Given the description of an element on the screen output the (x, y) to click on. 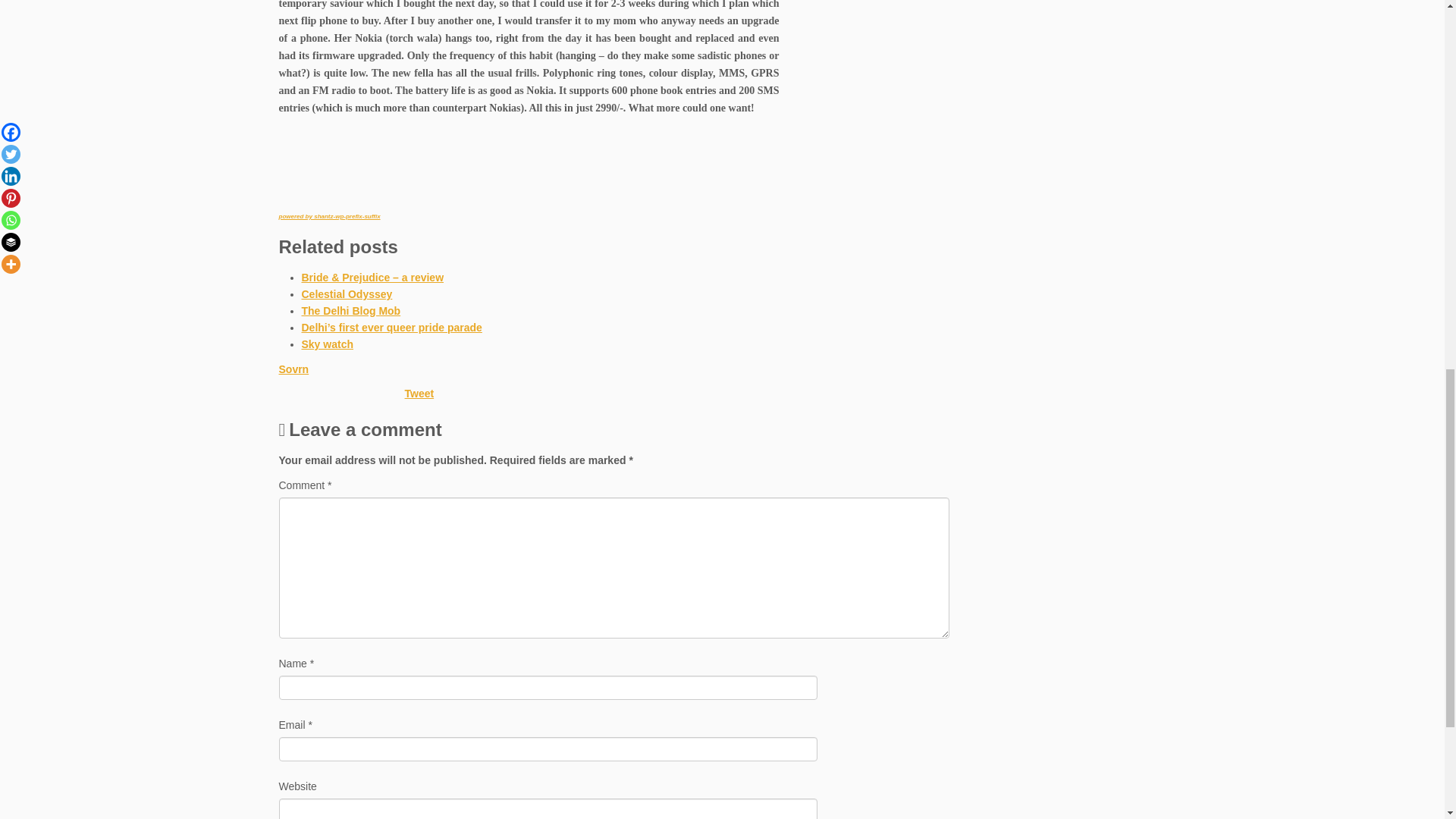
Sovrn (293, 369)
powered by shantz-wp-prefix-suffix (329, 216)
Tweet (418, 393)
The Delhi Blog Mob (351, 310)
Celestial Odyssey (347, 294)
Sky watch (327, 344)
